Given the description of an element on the screen output the (x, y) to click on. 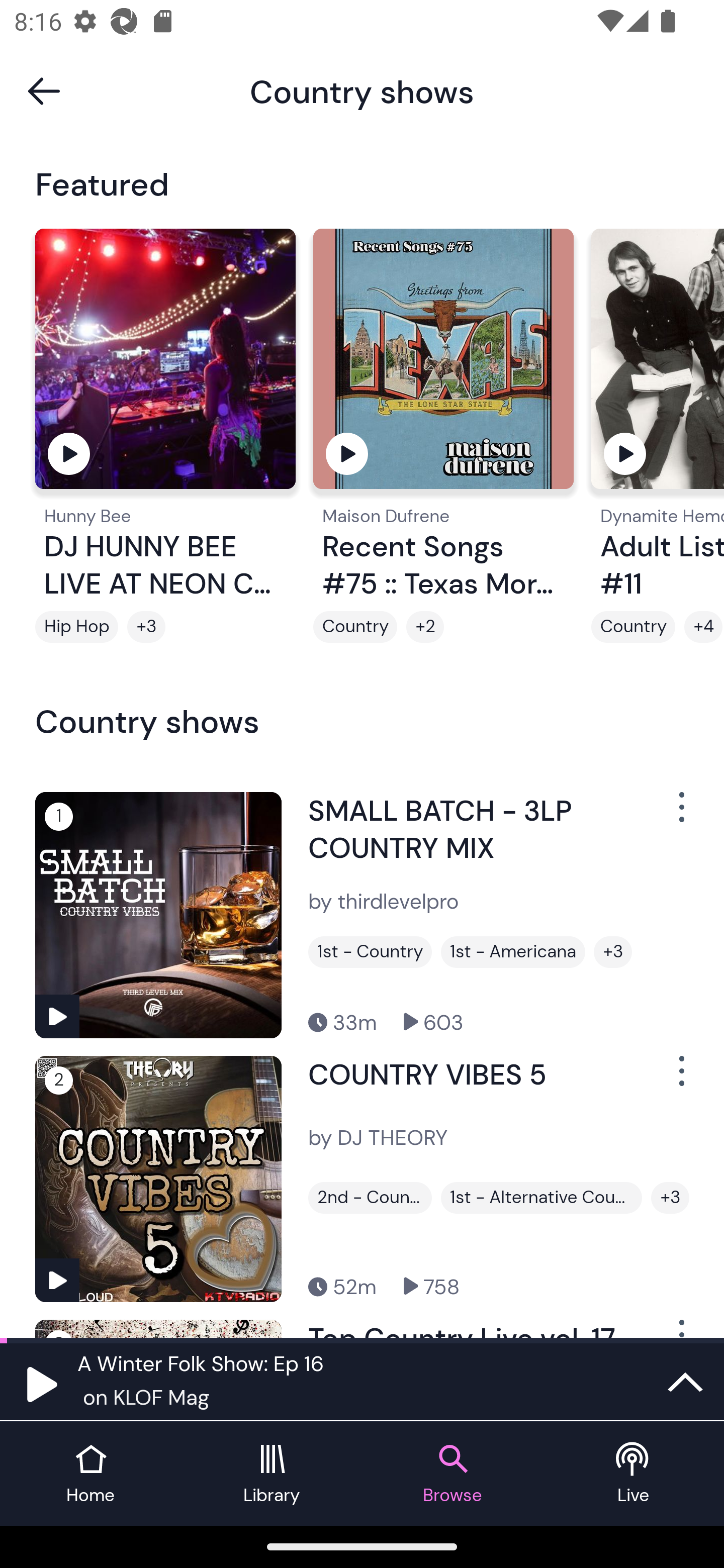
Hip Hop (76, 626)
Country (355, 626)
Country (633, 626)
Show Options Menu Button (679, 814)
1st - Country (370, 951)
1st - Americana (512, 951)
Show Options Menu Button (679, 1078)
2nd - Country (370, 1197)
1st - Alternative Country (541, 1197)
Home tab Home (90, 1473)
Library tab Library (271, 1473)
Browse tab Browse (452, 1473)
Live tab Live (633, 1473)
